Given the description of an element on the screen output the (x, y) to click on. 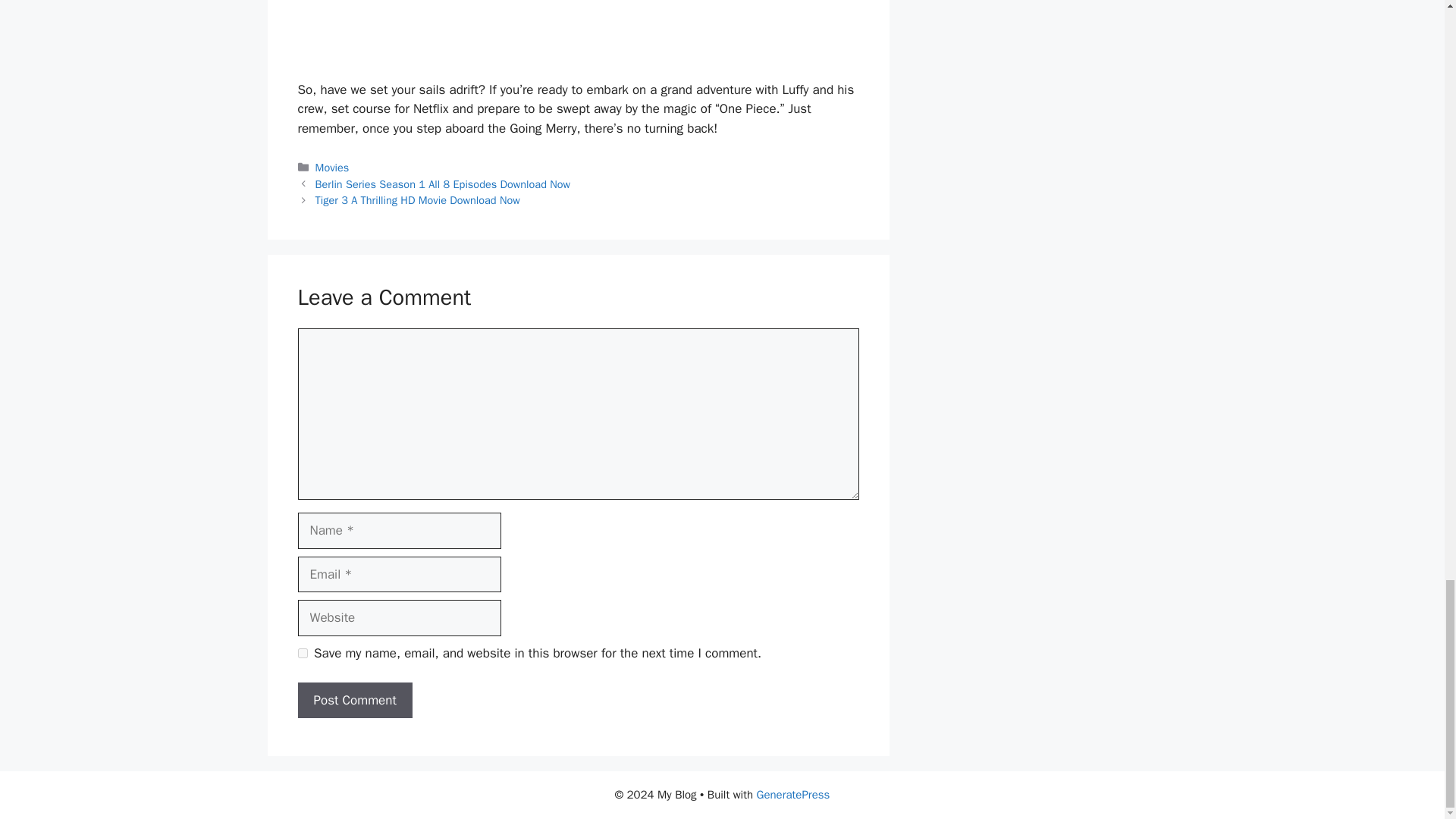
Post Comment (354, 700)
Post Comment (354, 700)
yes (302, 653)
Movies (332, 167)
GeneratePress (793, 794)
Tiger 3 A Thrilling HD Movie Download Now (417, 200)
Berlin Series Season 1 All 8 Episodes Download Now (442, 183)
